Given the description of an element on the screen output the (x, y) to click on. 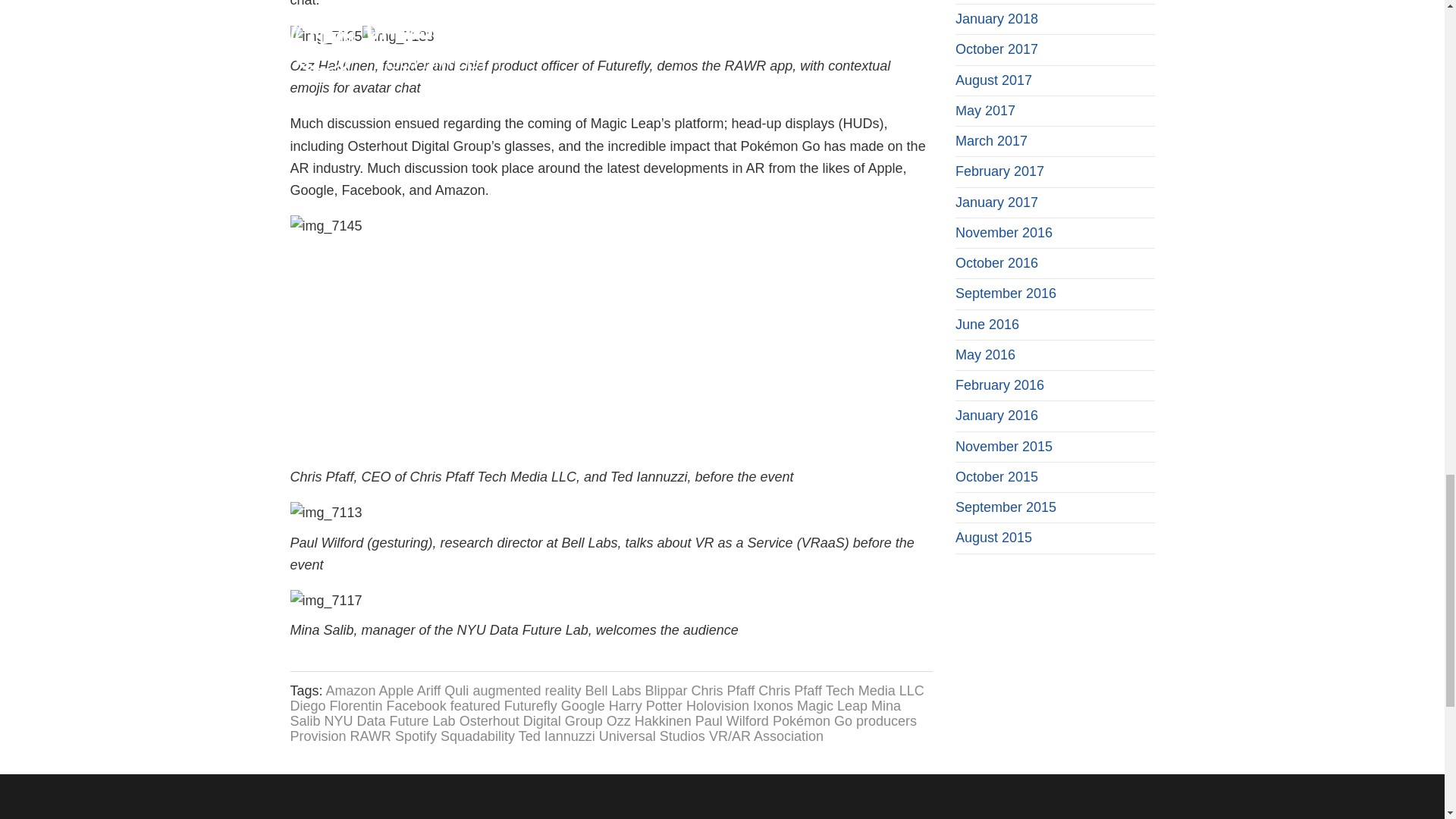
Facebook (416, 704)
Osterhout Digital Group (531, 720)
Ariff Quli (442, 689)
NYU Data Future Lab (389, 720)
featured (474, 704)
Chris Pfaff (723, 689)
Bell Labs (612, 689)
Apple (395, 689)
Diego Florentin (335, 704)
Mina Salib (595, 712)
Google (582, 704)
Paul Wilford (731, 720)
Ixonos (772, 704)
Chris Pfaff Tech Media LLC (840, 689)
augmented reality (525, 689)
